Given the description of an element on the screen output the (x, y) to click on. 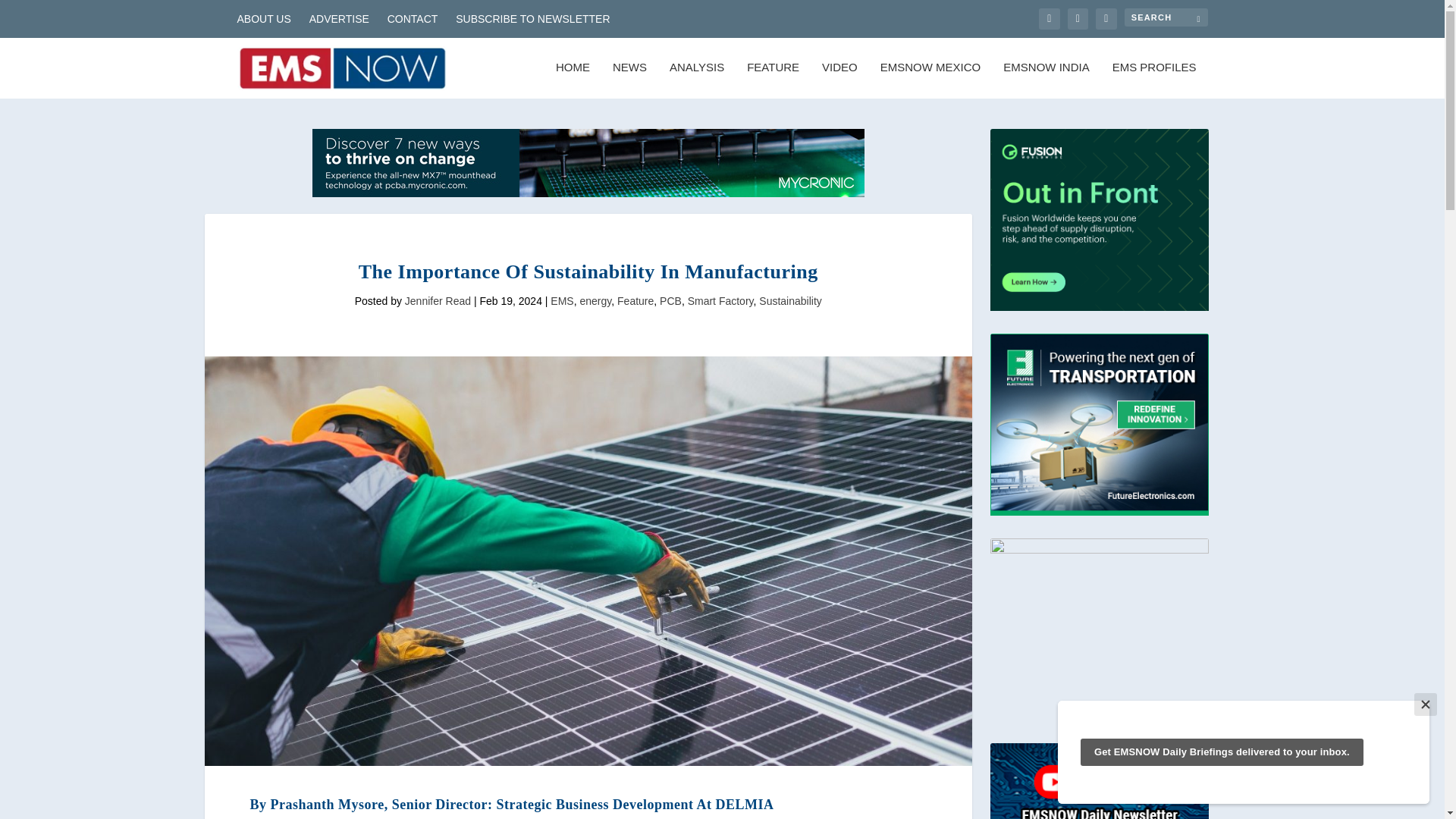
EMSNOW INDIA (1046, 79)
ABOUT US (262, 18)
VIDEO (839, 79)
EMSNOW MEXICO (930, 79)
ANALYSIS (696, 79)
Jennifer Read (437, 300)
Posts by Jennifer Read (437, 300)
HOME (572, 79)
FEATURE (772, 79)
CONTACT (412, 18)
SUBSCRIBE TO NEWSLETTER (532, 18)
PCB (670, 300)
EMS PROFILES (1154, 79)
Smart Factory (720, 300)
Feature (635, 300)
